Given the description of an element on the screen output the (x, y) to click on. 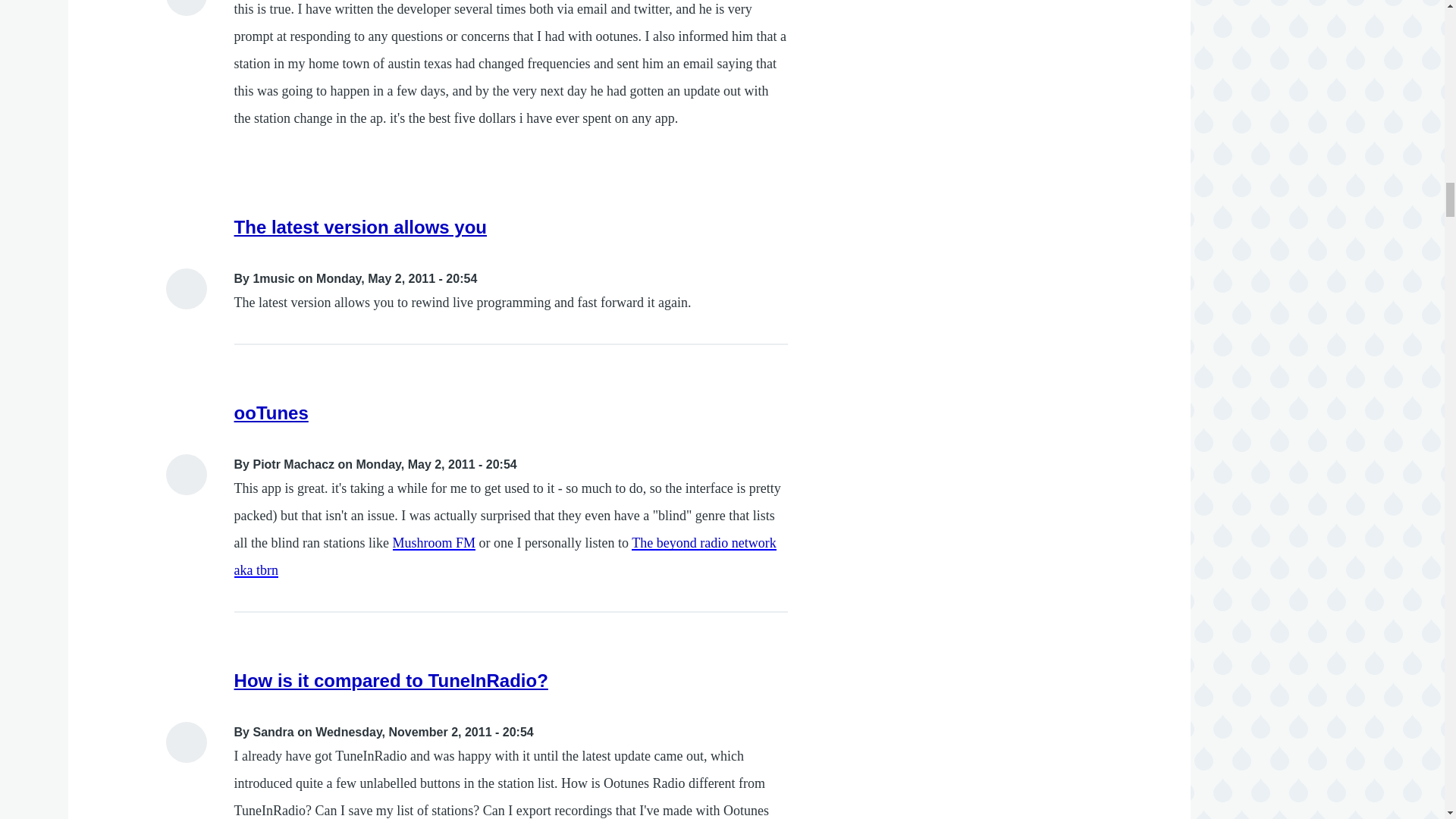
Mushroom FM (434, 542)
ooTunes (271, 412)
The latest version allows you (360, 227)
How is it compared to TuneInRadio? (391, 680)
The beyond radio network aka tbrn (505, 556)
